Given the description of an element on the screen output the (x, y) to click on. 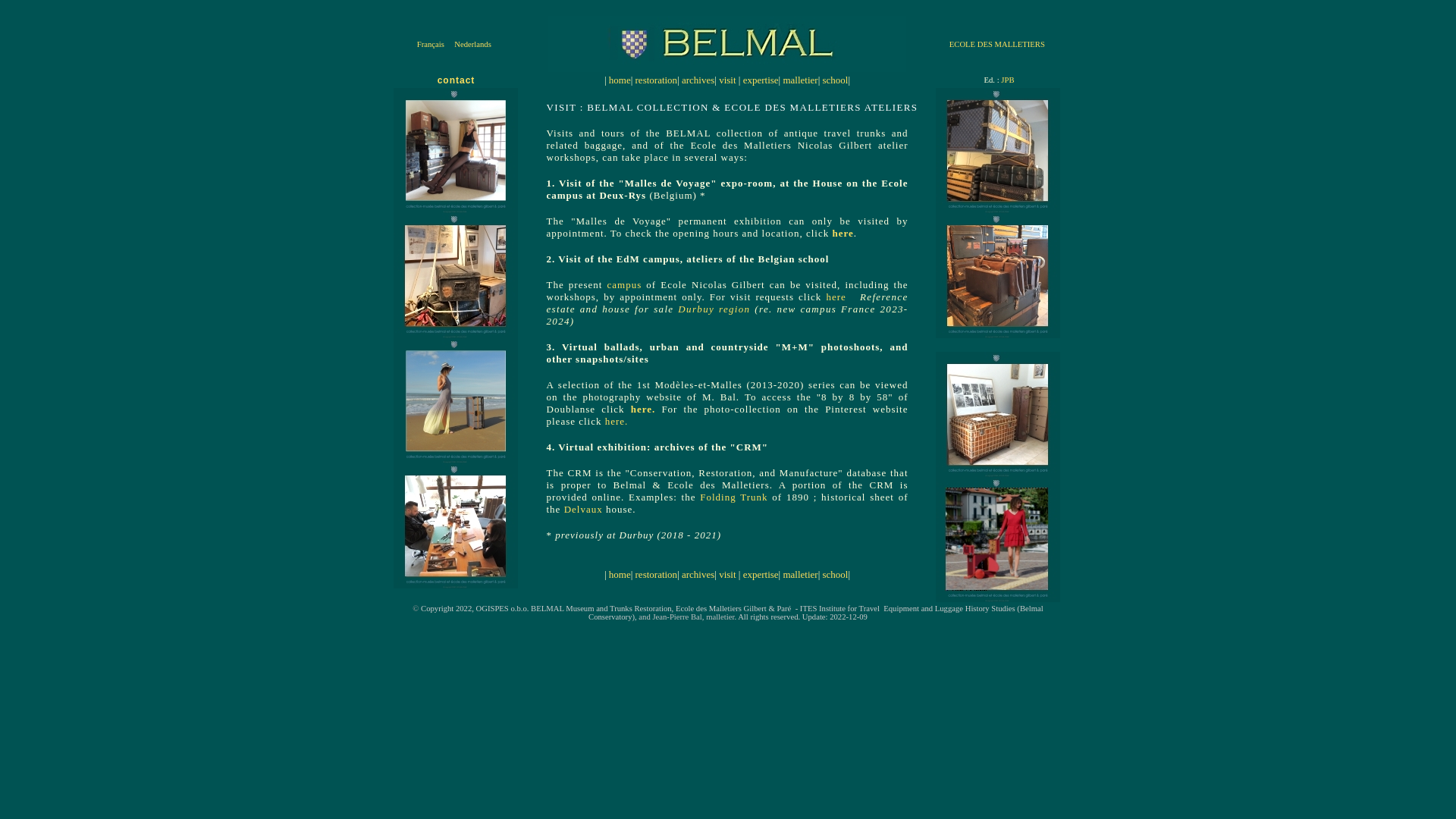
campus Element type: text (623, 284)
archives Element type: text (697, 79)
Folding Trunk Element type: text (733, 496)
archives Element type: text (697, 574)
Delvaux Element type: text (583, 508)
ECOLE DES MALLETIERS Element type: text (996, 42)
JPB Element type: text (1007, 79)
school Element type: text (833, 79)
here. Element type: text (646, 408)
home Element type: text (619, 79)
expertise Element type: text (760, 574)
expertise Element type: text (760, 79)
Durbuy region Element type: text (713, 308)
malletier Element type: text (799, 574)
restoration Element type: text (656, 79)
here.  Element type: text (618, 420)
here Element type: text (835, 296)
malletier Element type: text (799, 79)
school Element type: text (833, 574)
home Element type: text (619, 574)
contact Element type: text (456, 79)
visit Element type: text (726, 574)
Nederlands Element type: text (472, 43)
restoration Element type: text (656, 574)
here Element type: text (840, 232)
visit Element type: text (726, 79)
